Given the description of an element on the screen output the (x, y) to click on. 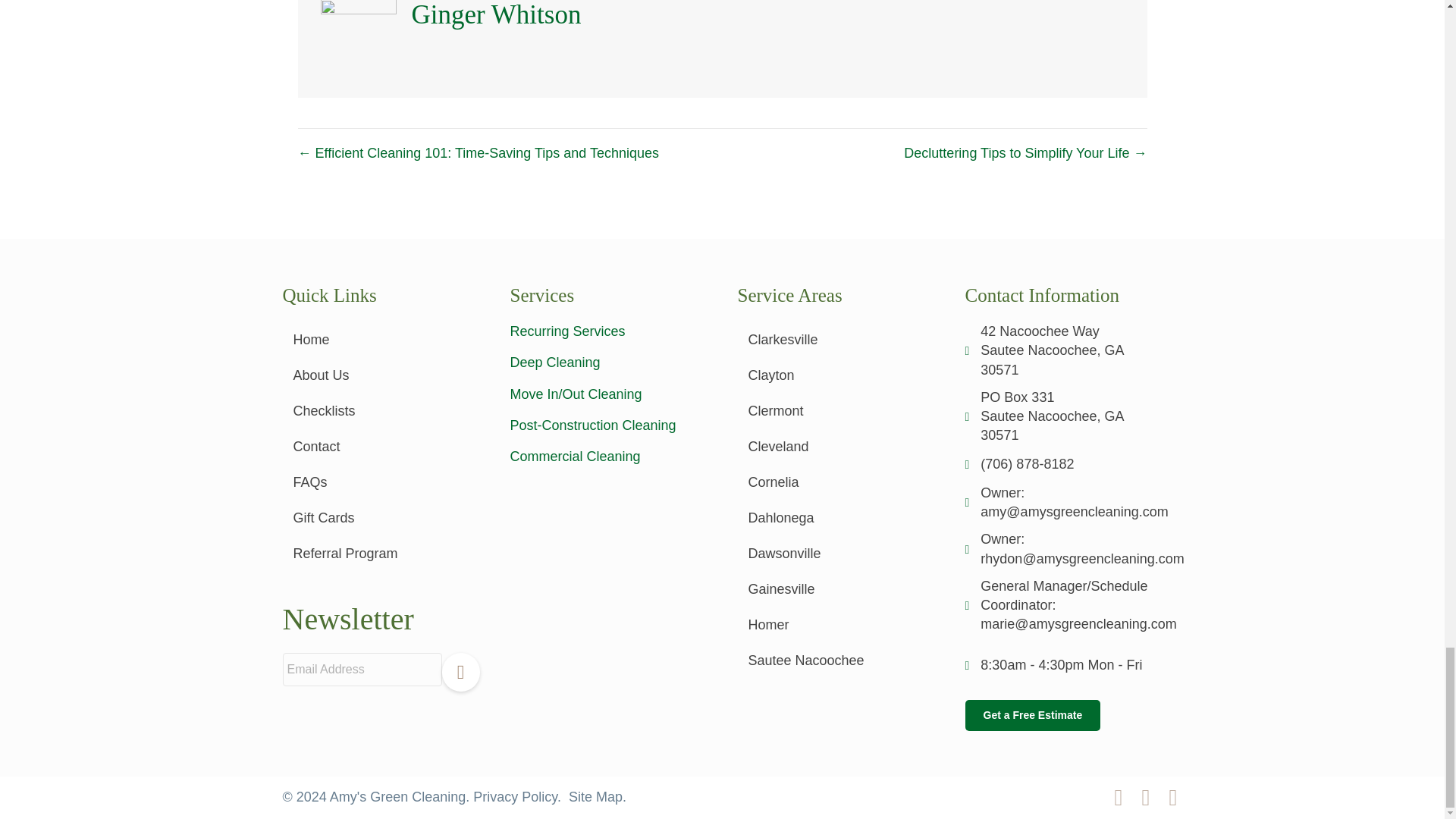
Contact (380, 446)
About Us (380, 375)
Clarkesville (835, 339)
Post-Construction Cleaning (592, 425)
Home (380, 339)
Deep Cleaning (554, 362)
FAQs (380, 482)
Gift Cards (380, 517)
Checklists (380, 410)
Commercial Cleaning (574, 456)
